Given the description of an element on the screen output the (x, y) to click on. 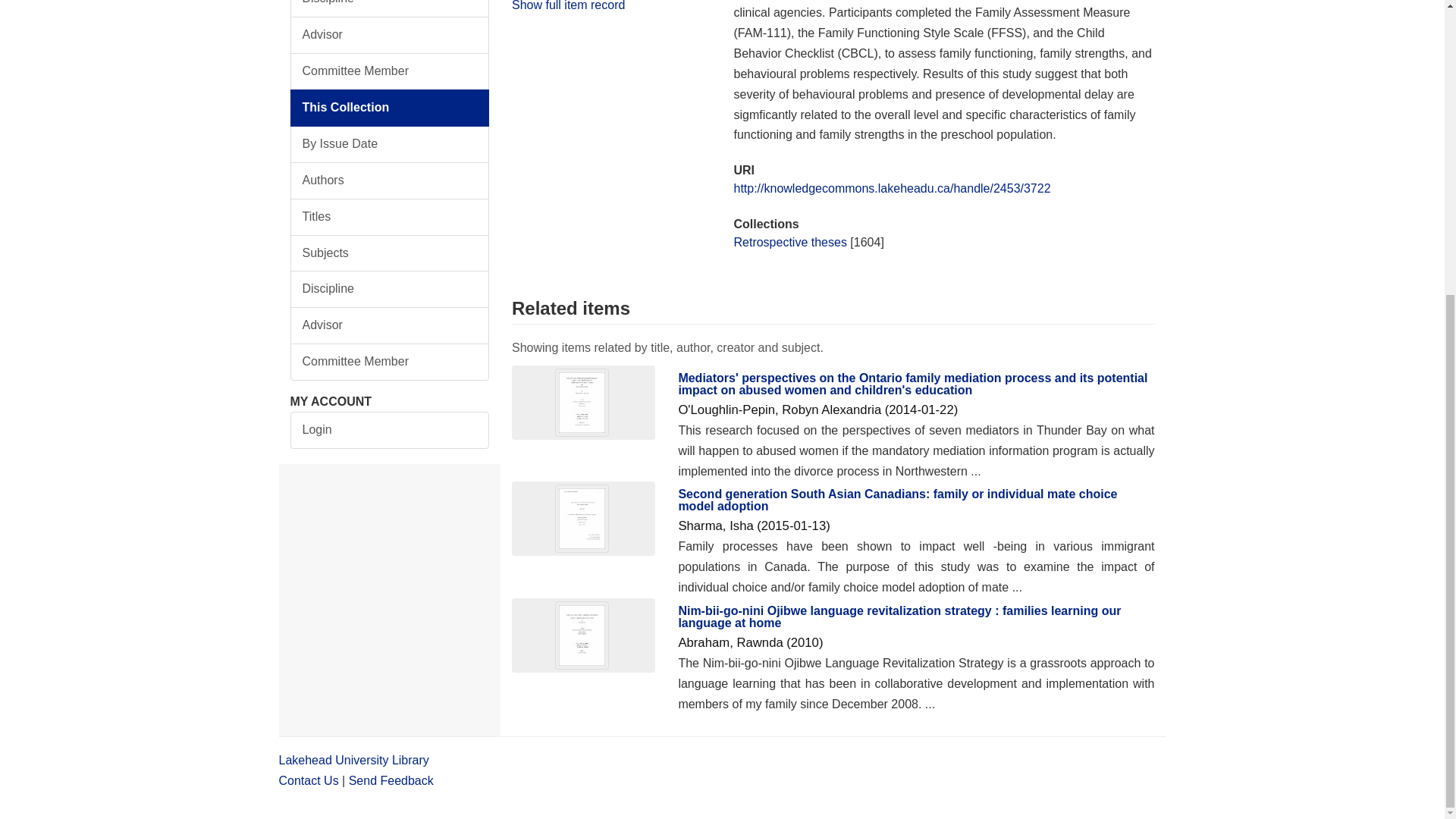
Titles (389, 217)
Discipline (389, 289)
Discipline (389, 8)
This Collection (389, 107)
Authors (389, 180)
Committee Member (389, 361)
Subjects (389, 253)
Advisor (389, 325)
By Issue Date (389, 144)
Advisor (389, 35)
Show full item record (568, 5)
Retrospective theses (789, 241)
Committee Member (389, 71)
